Given the description of an element on the screen output the (x, y) to click on. 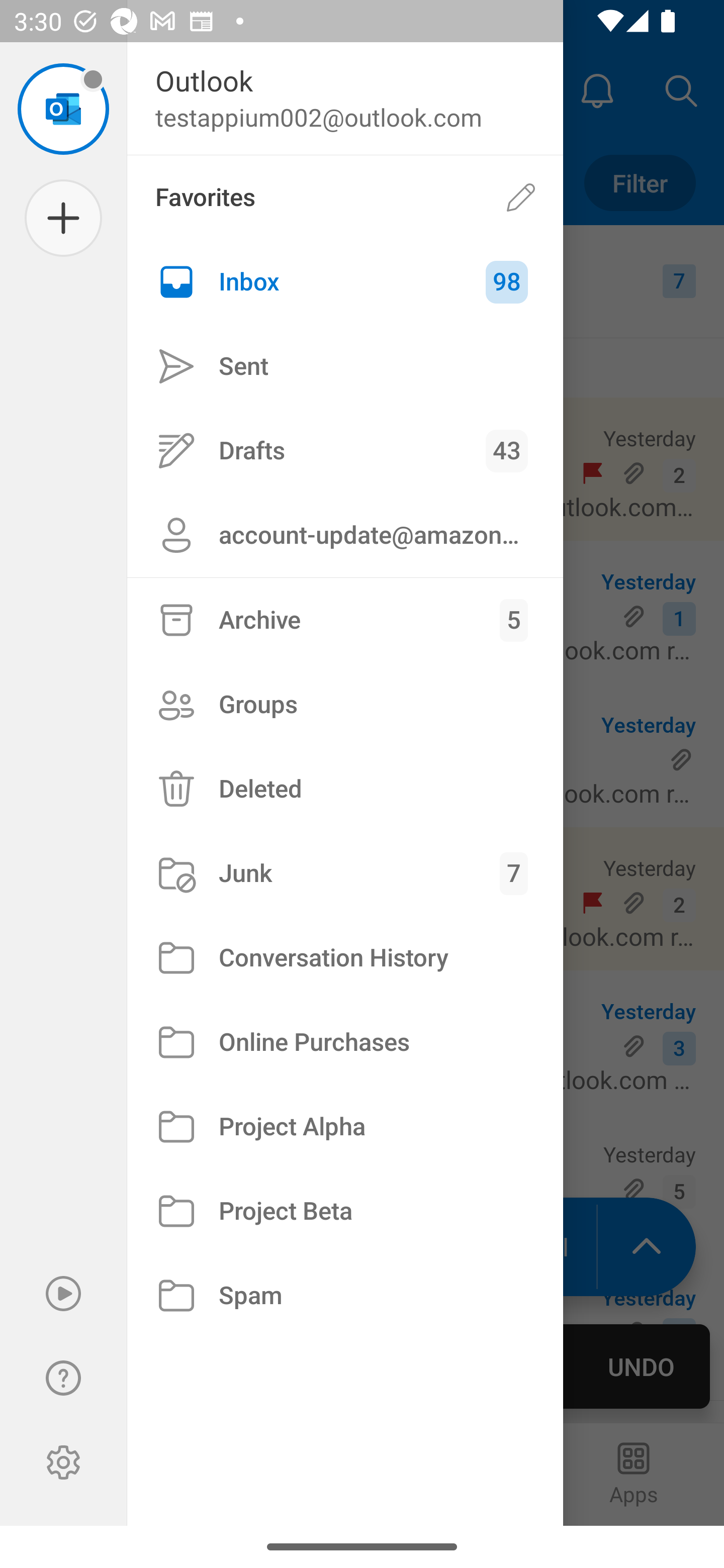
Edit favorites (520, 197)
Add account (63, 217)
Inbox Inbox, 98 unread emails,Selected (345, 281)
Sent (345, 366)
Drafts Drafts, 43 unread emails (345, 450)
account-update@amazon.com (345, 534)
Archive Archive, 2 of 10, level 1, 5 unread emails (345, 619)
Groups Groups, 3 of 10, level 1 (345, 703)
Deleted Deleted, 4 of 10, level 1 (345, 788)
Junk Junk, 5 of 10, level 1, 7 unread emails (345, 873)
Project Alpha Project Alpha, 8 of 10, level 1 (345, 1127)
Project Beta Project Beta, 9 of 10, level 1 (345, 1210)
Play My Emails (62, 1293)
Spam Spam, 10 of 10, level 1 (345, 1294)
Help (62, 1377)
Settings (62, 1462)
